Given the description of an element on the screen output the (x, y) to click on. 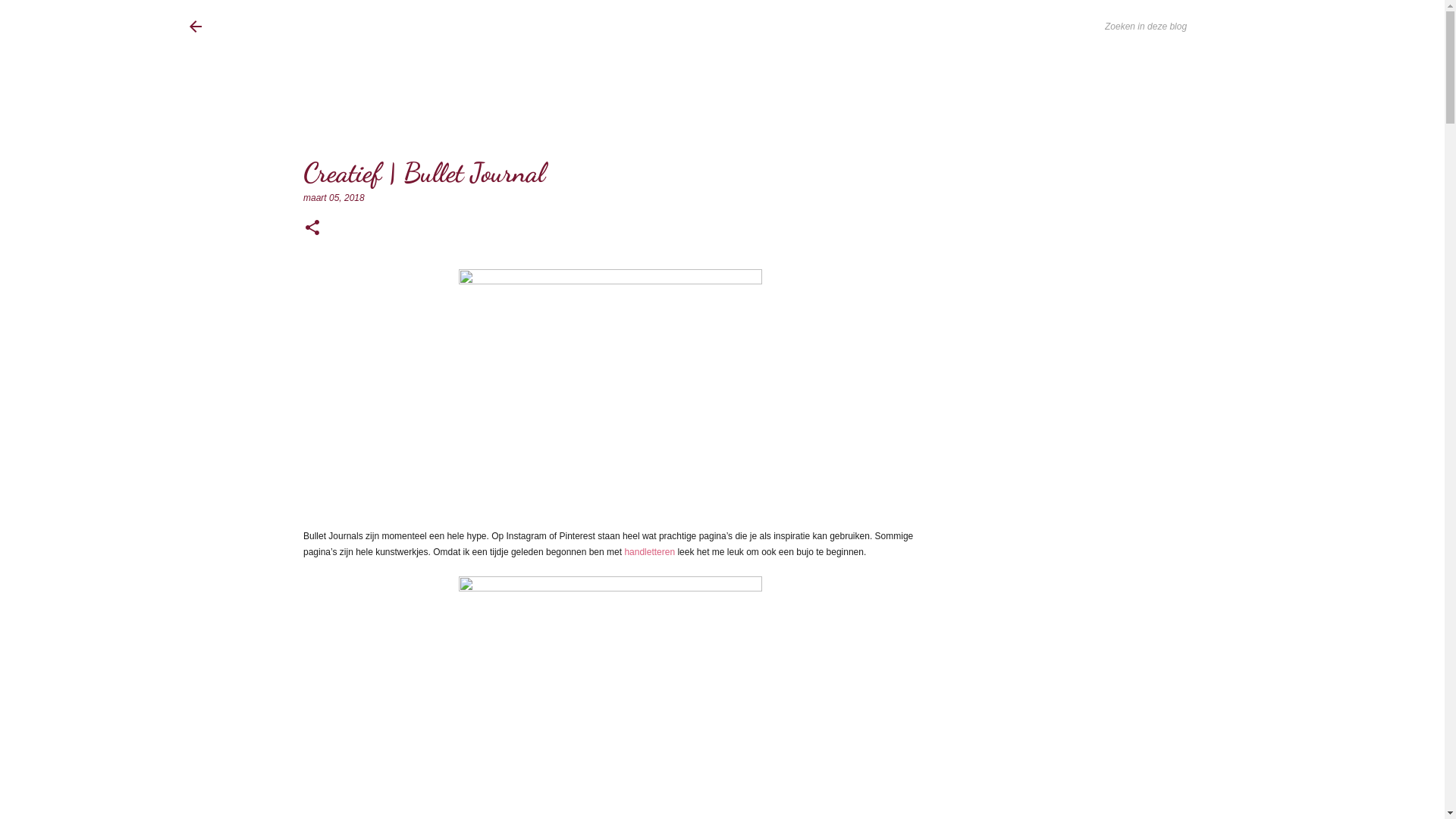
handletteren Element type: text (650, 551)
maart 05, 2018 Element type: text (333, 197)
BrownEyedCurvyGirl Element type: text (311, 26)
